Given the description of an element on the screen output the (x, y) to click on. 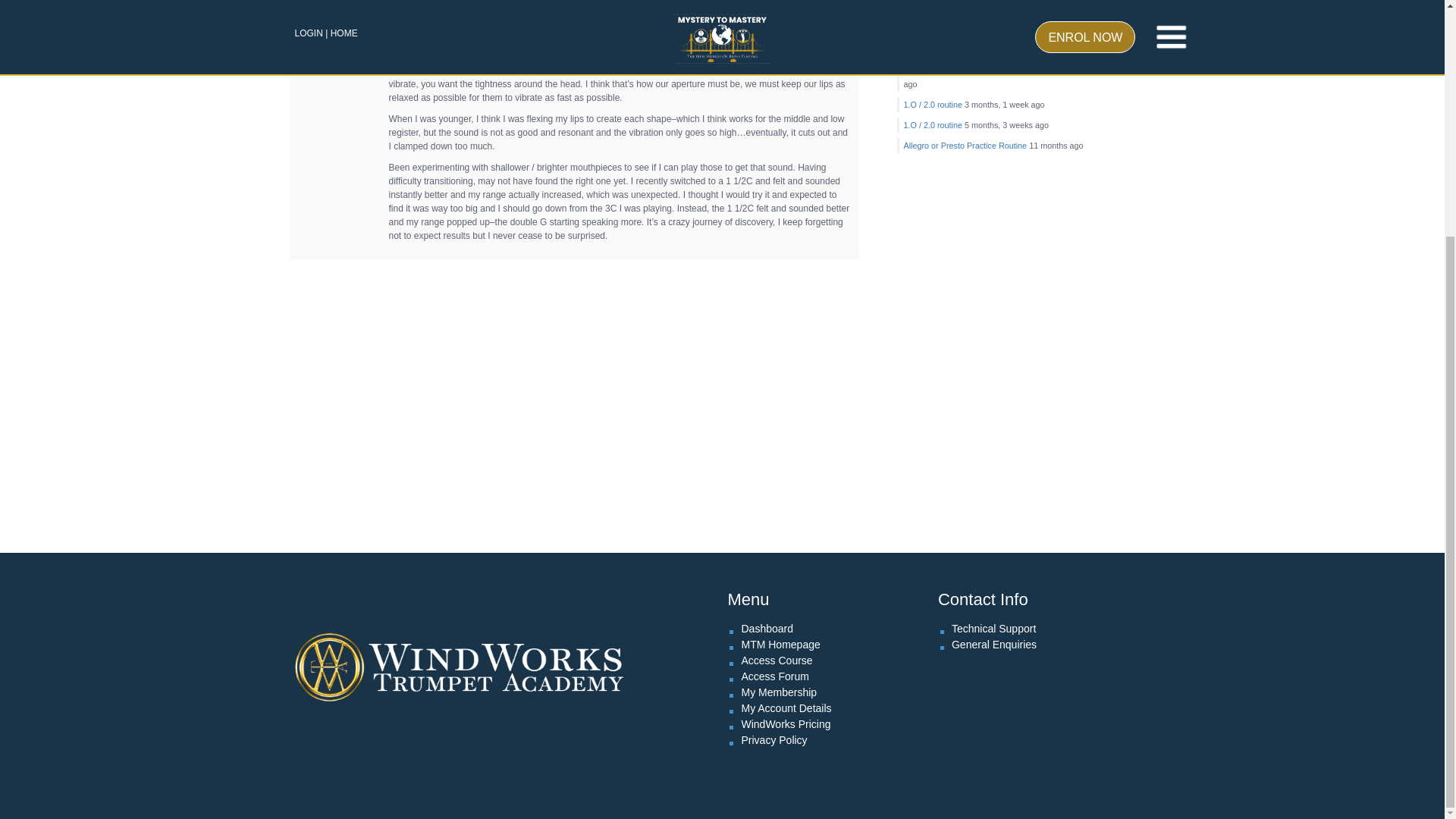
WindWorks Pricing (785, 724)
Privacy Policy (773, 739)
Access Course (776, 660)
Thank you for the response mattroce. (990, 32)
Access Forum (774, 676)
No teeth, just lips form the seal. (990, 68)
Allegro or Presto Practice Routine (965, 144)
MTM Homepage (780, 644)
My Account Details (786, 707)
My Membership (778, 692)
